Given the description of an element on the screen output the (x, y) to click on. 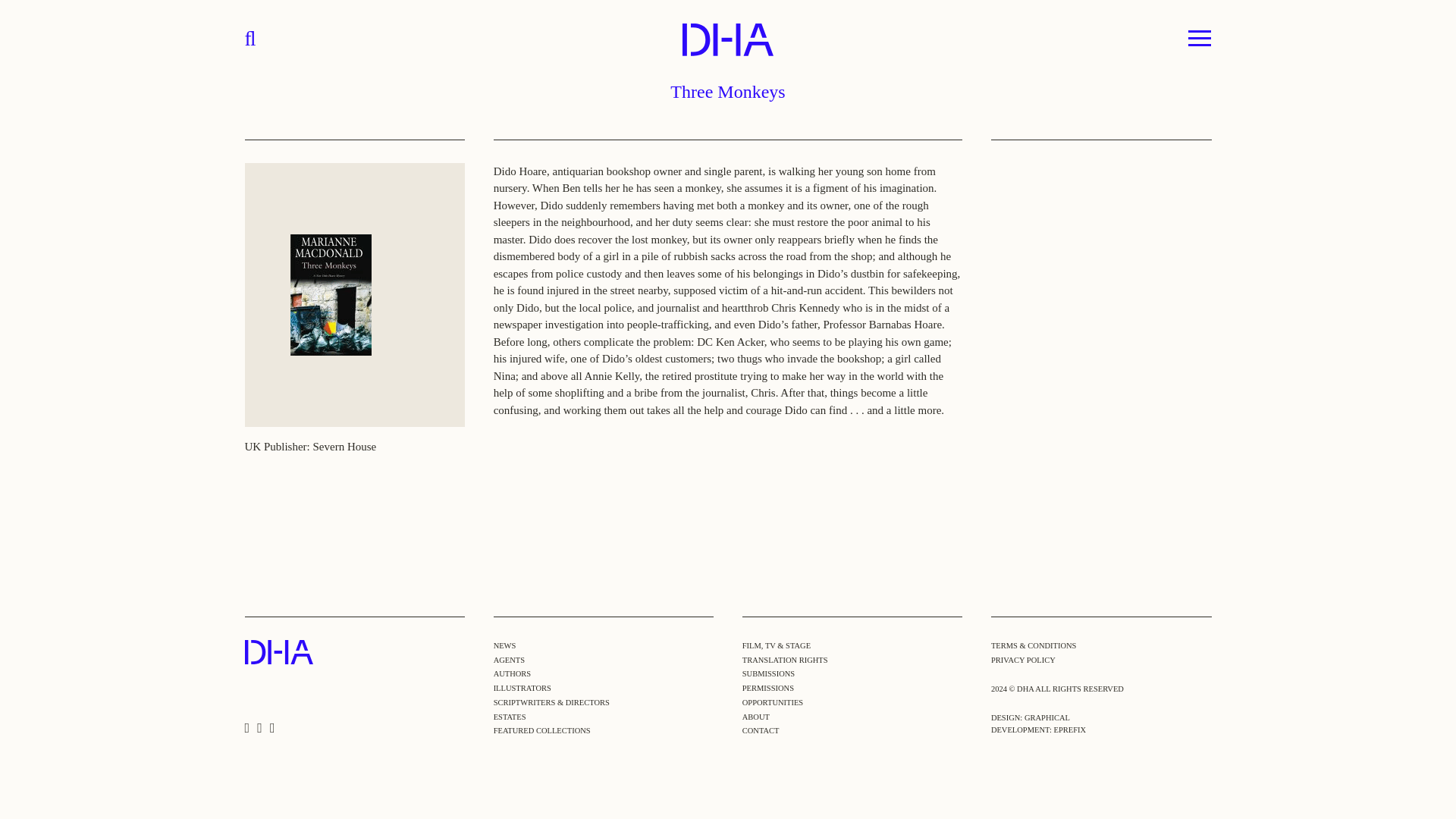
CONTACT (760, 730)
OPPORTUNITIES (772, 702)
GRAPHICAL (1047, 717)
AGENTS (508, 659)
FEATURED COLLECTIONS (542, 730)
TRANSLATION RIGHTS (785, 659)
ESTATES (509, 716)
PERMISSIONS (767, 687)
ILLUSTRATORS (522, 687)
ABOUT (756, 716)
AUTHORS (512, 673)
SUBMISSIONS (768, 673)
PRIVACY POLICY (1023, 659)
NEWS (504, 645)
